Given the description of an element on the screen output the (x, y) to click on. 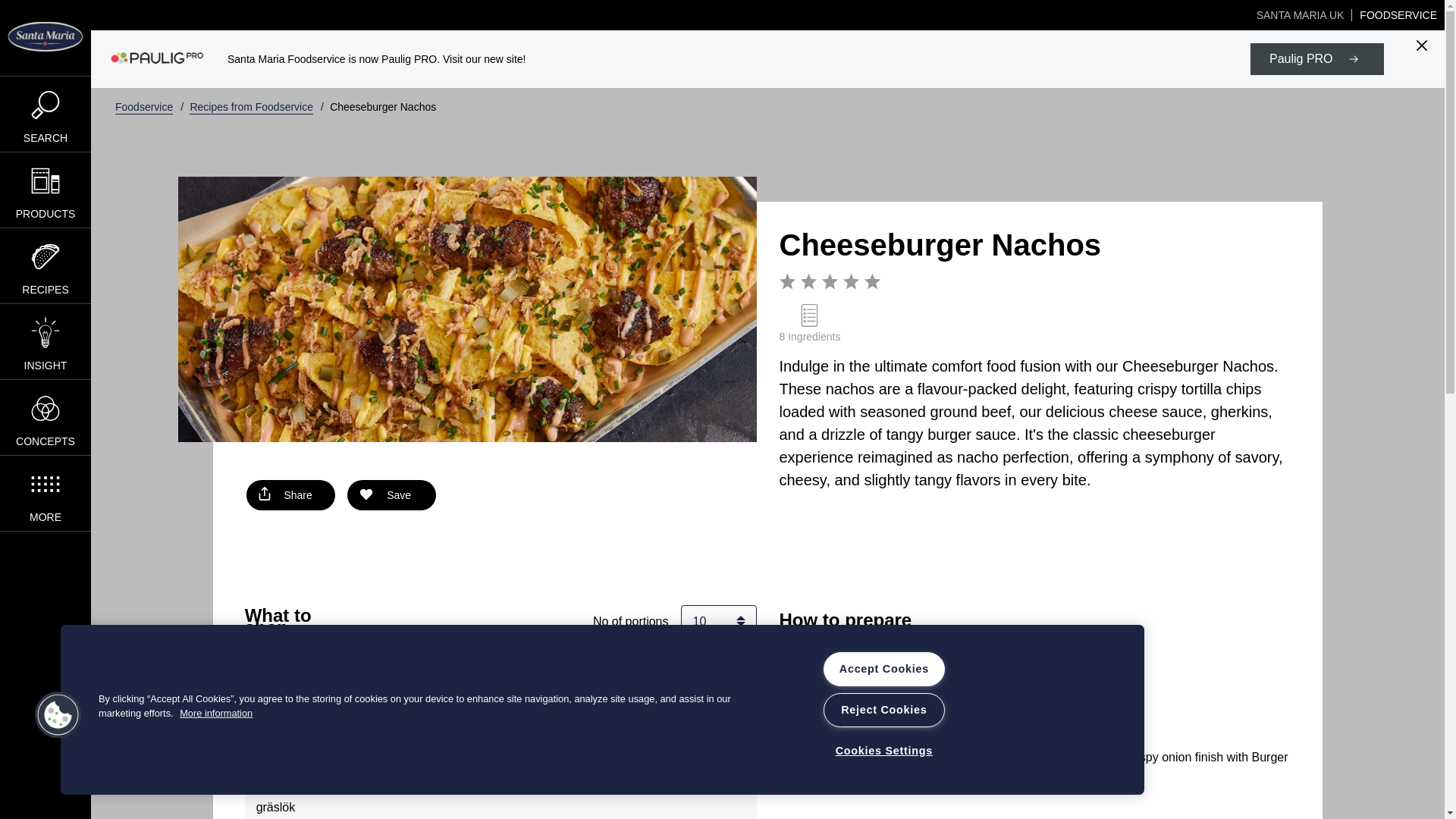
SANTA MARIA UK (1300, 15)
Cookies Button (57, 715)
10 (719, 621)
